Given the description of an element on the screen output the (x, y) to click on. 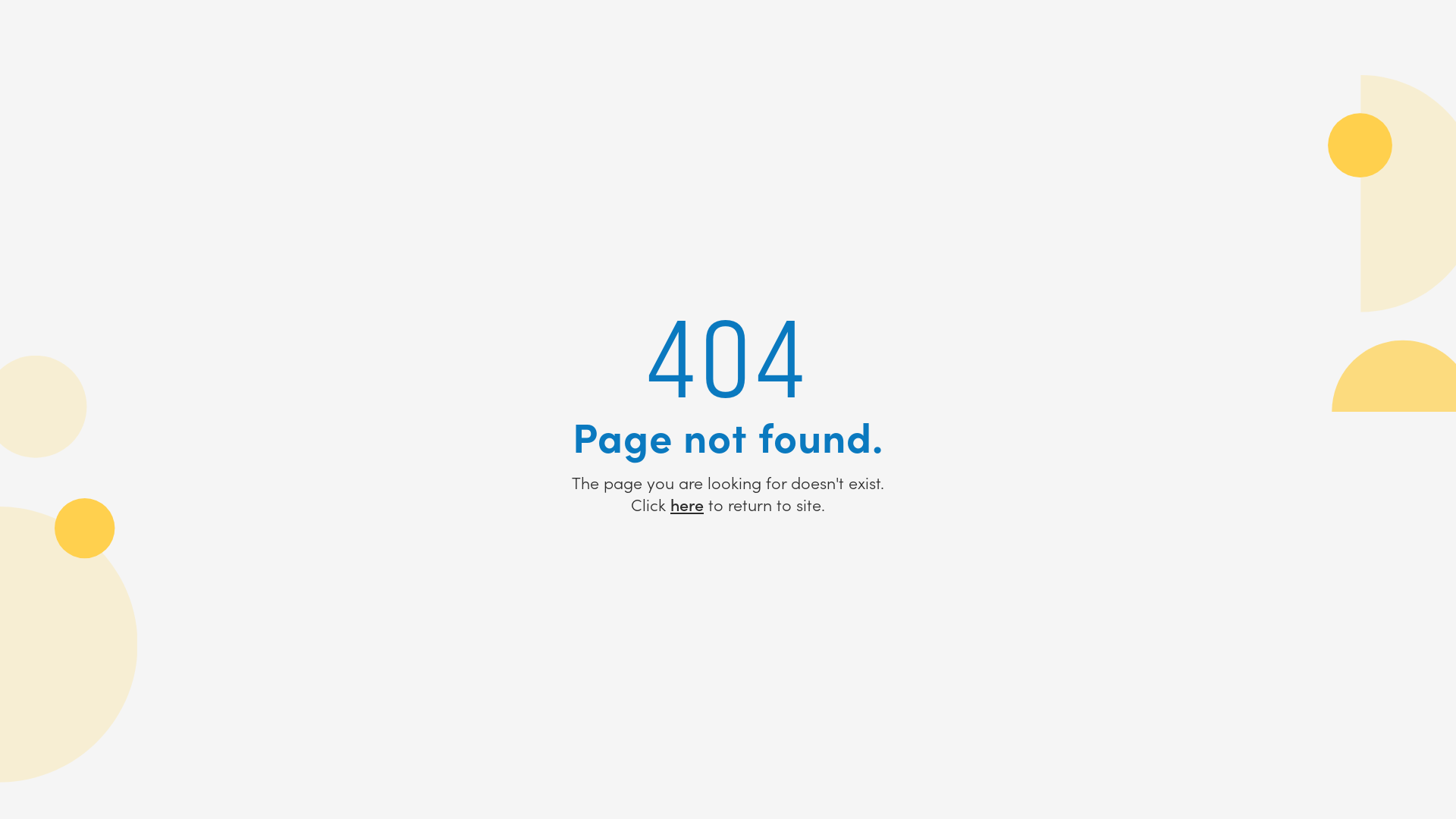
here Element type: text (686, 503)
